Given the description of an element on the screen output the (x, y) to click on. 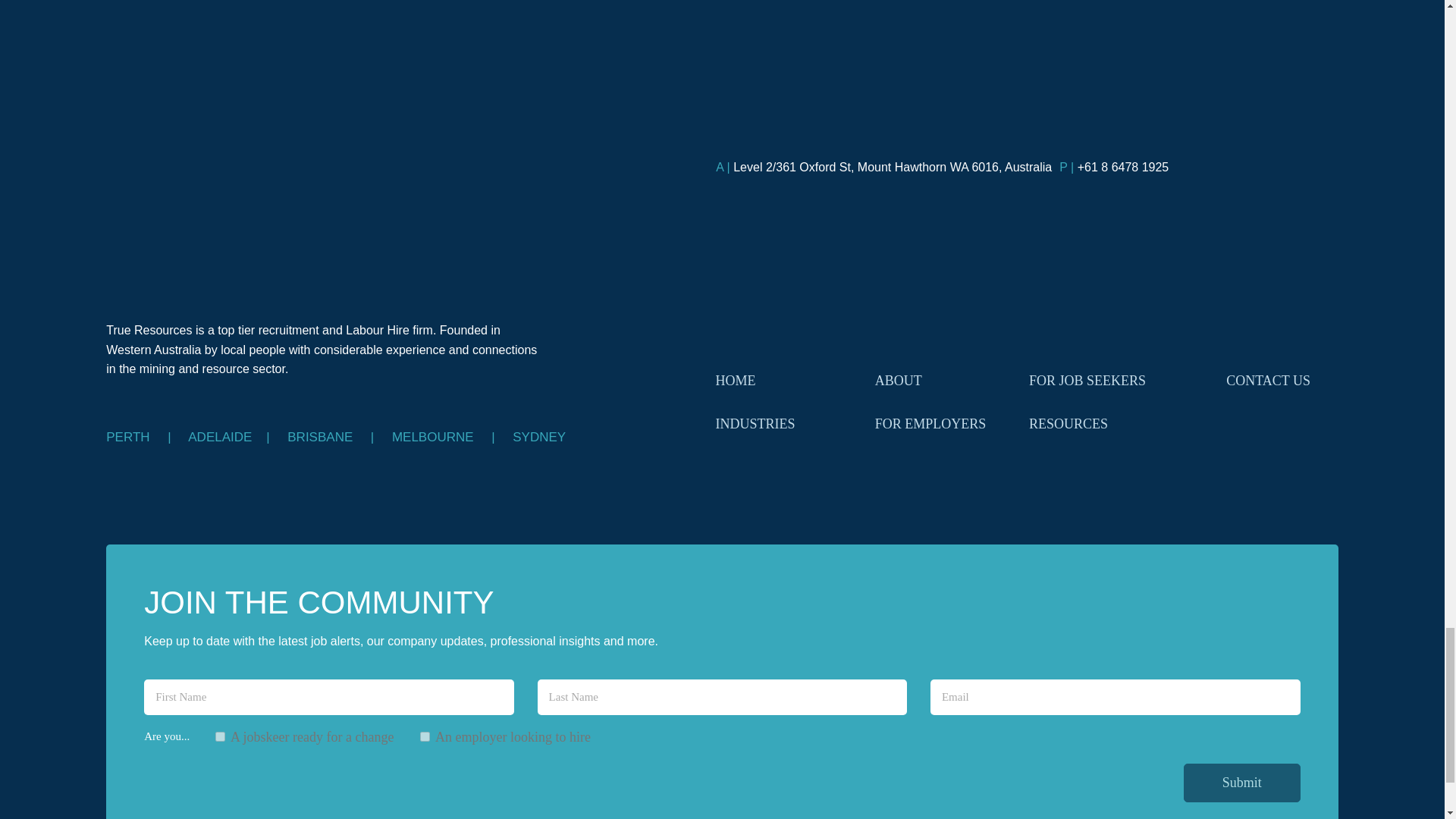
An employer looking to hire (424, 737)
Submit (1241, 782)
A jobskeer ready for a change (220, 737)
